Given the description of an element on the screen output the (x, y) to click on. 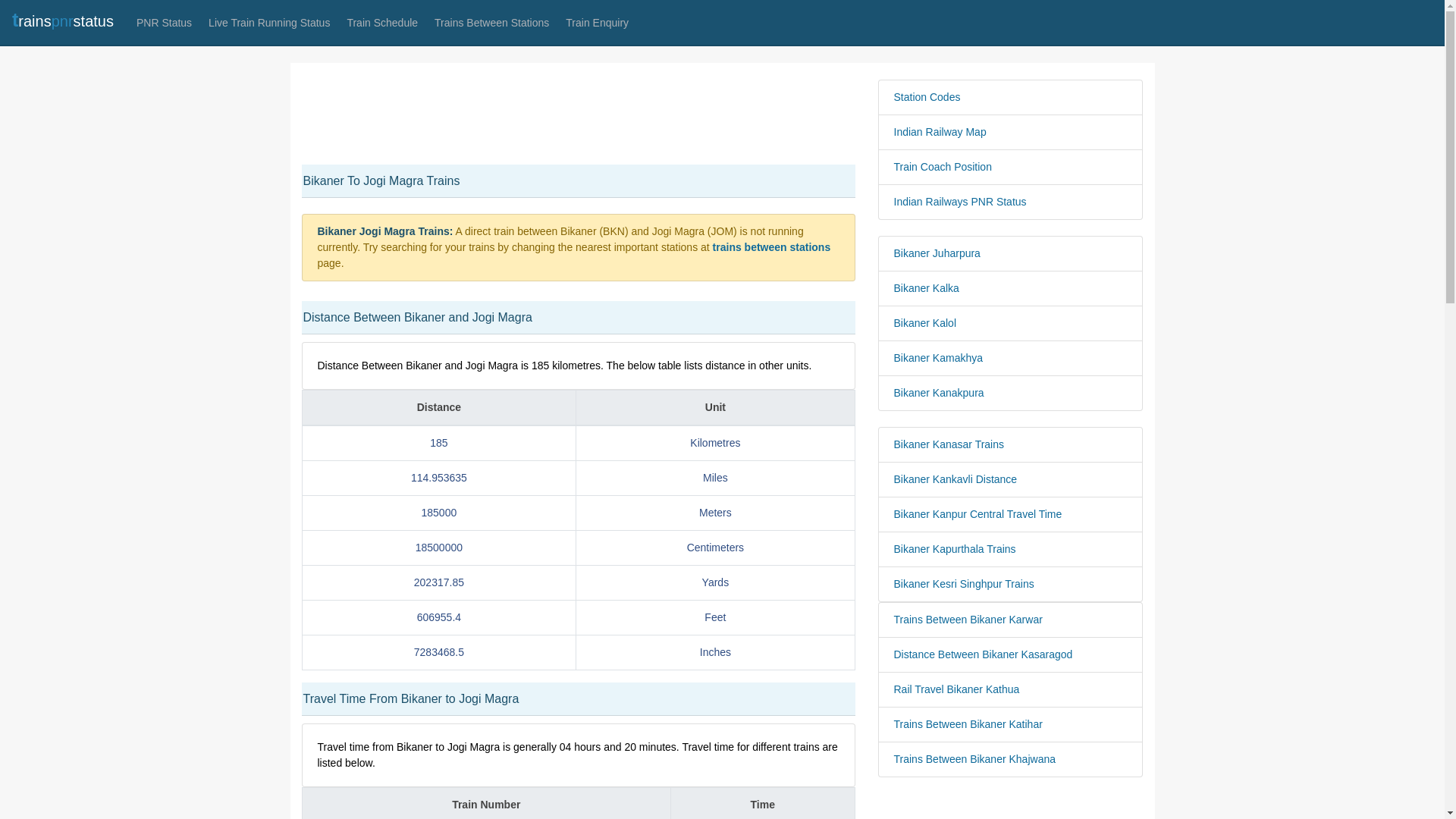
Live Train Running Status (269, 22)
Indian Railway Map (1009, 131)
PNR Status (164, 22)
Distance Between Bikaner Kasaragod (1009, 654)
Advertisement (578, 113)
Bikaner Kanakpura (1009, 393)
Station Codes (1009, 97)
Bikaner Kankavli Distance (1009, 479)
Bikaner Kamakhya (1009, 357)
Indian Railways PNR Status (1009, 202)
